Given the description of an element on the screen output the (x, y) to click on. 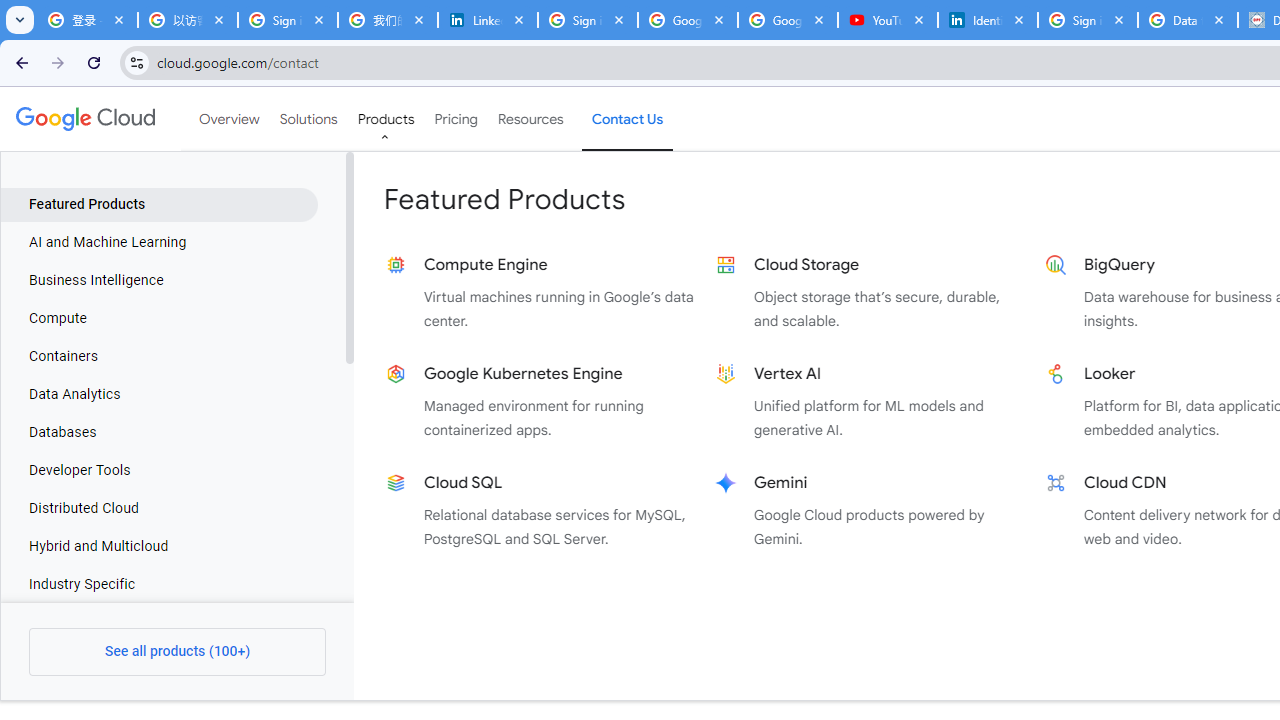
Resources (530, 119)
Industry Specific (159, 584)
AI and Machine Learning (159, 242)
